Given the description of an element on the screen output the (x, y) to click on. 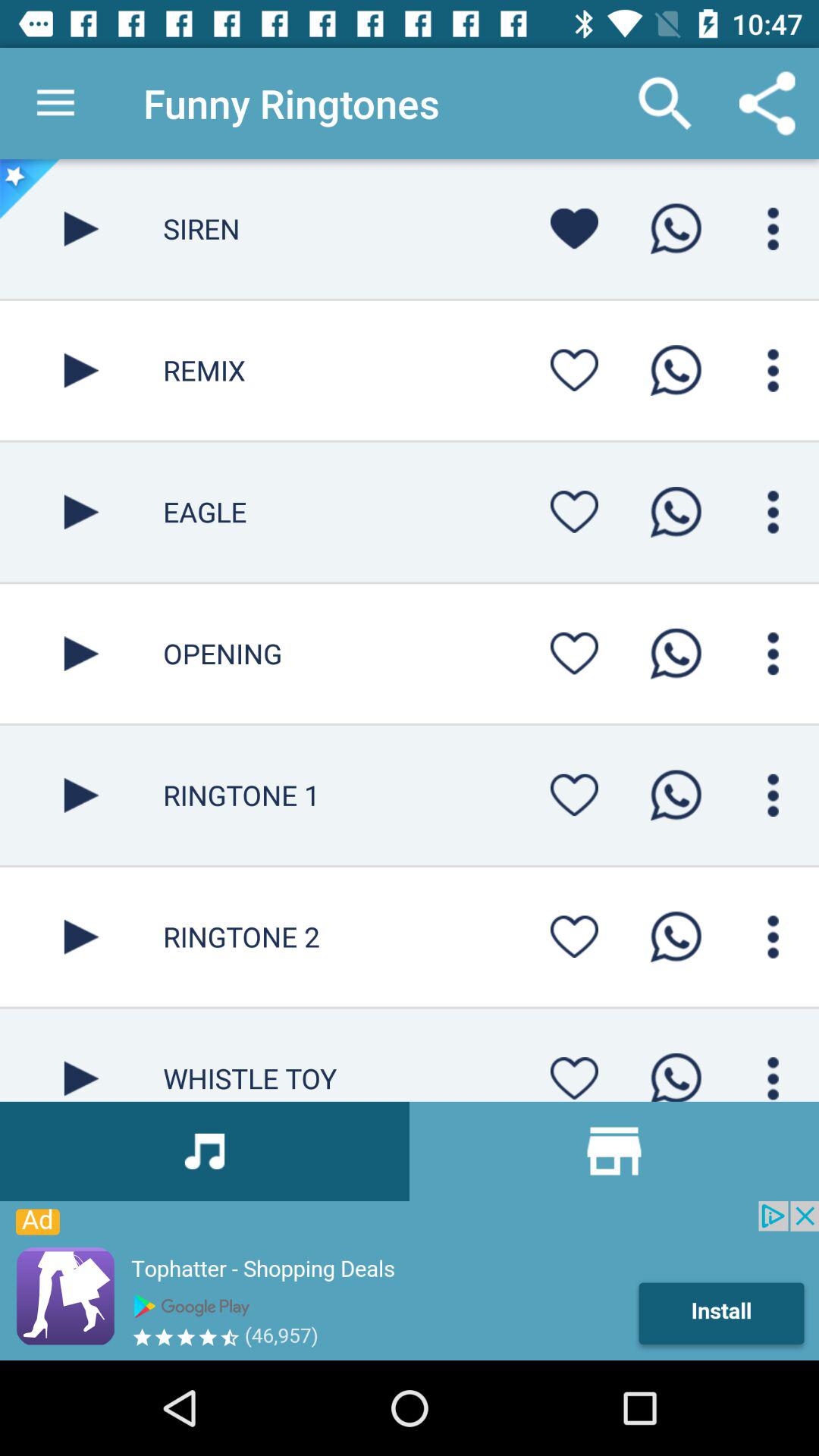
send to whatapp (675, 794)
